Given the description of an element on the screen output the (x, y) to click on. 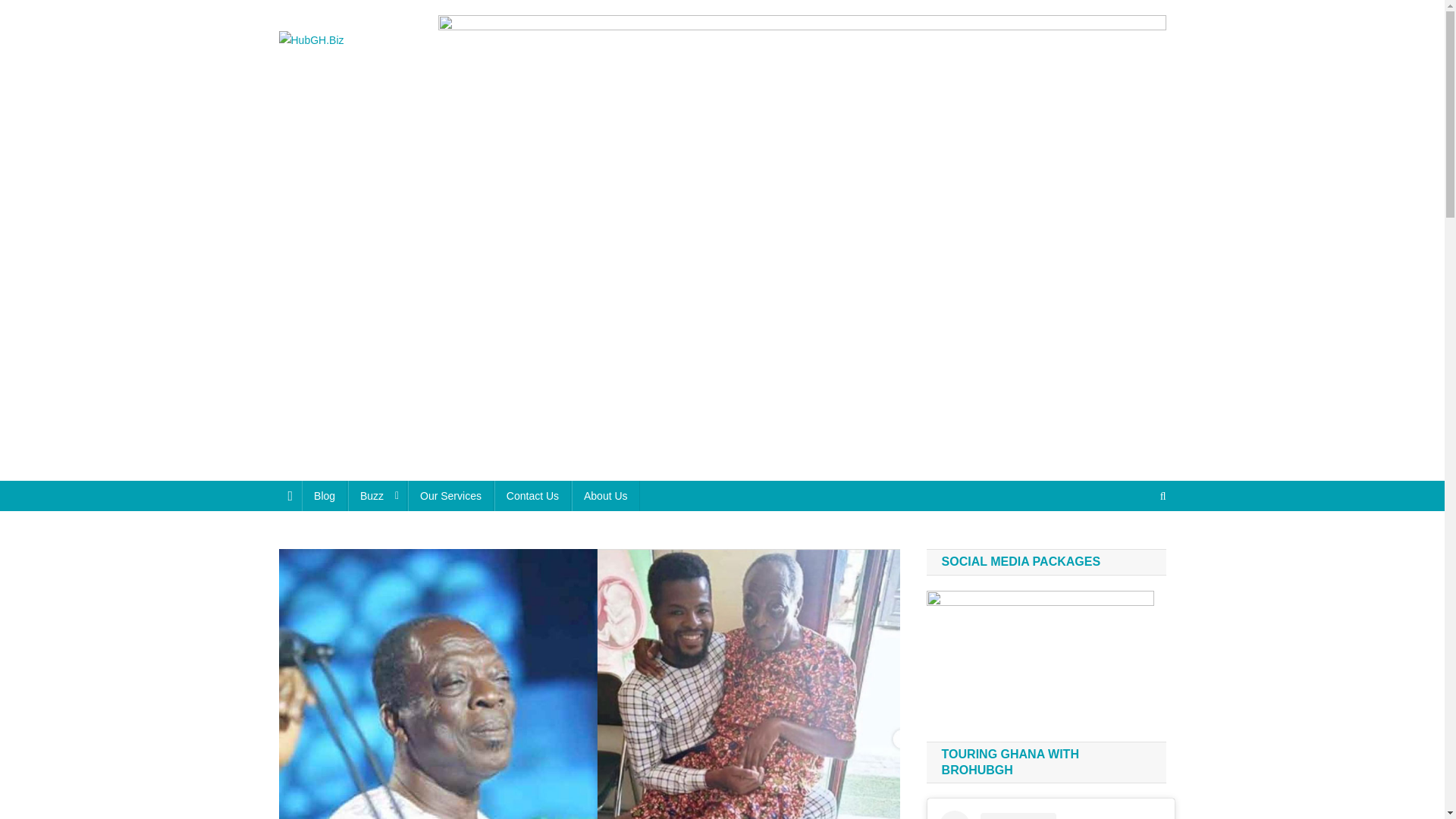
Contact Us (532, 495)
HubGH.Biz (342, 64)
Blog (324, 495)
Search (1133, 546)
Our Services (450, 495)
Buzz (377, 495)
About Us (606, 495)
